Given the description of an element on the screen output the (x, y) to click on. 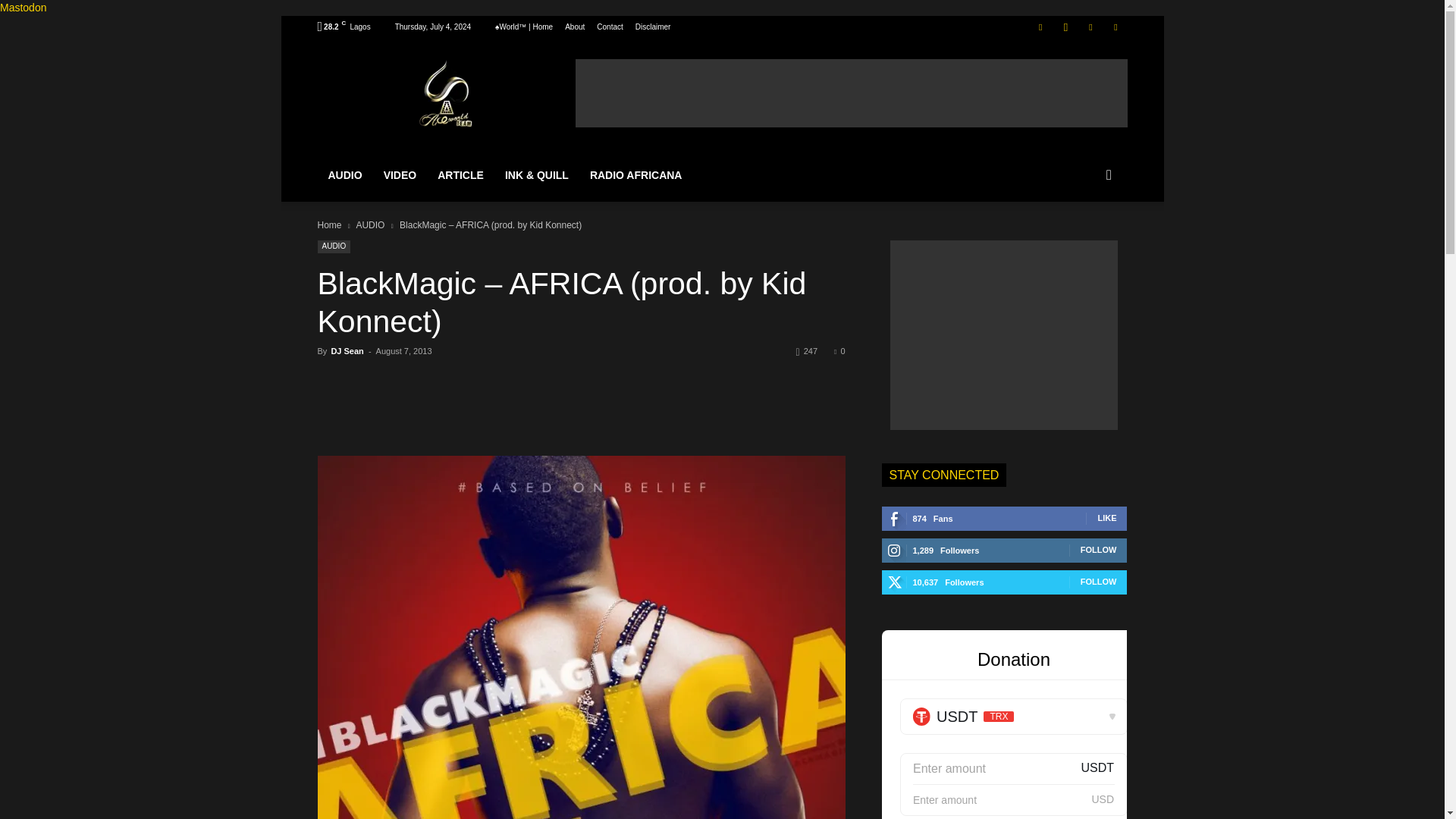
Pulse-racing Naija Music and Exclusive Gists. (445, 92)
Twitter (1114, 25)
About (574, 26)
Linkedin (1090, 25)
Instagram (1065, 25)
Facebook (1040, 25)
AUDIO (344, 174)
Advertisement (850, 92)
Mastodon (23, 7)
Contact (609, 26)
Disclaimer (652, 26)
